Given the description of an element on the screen output the (x, y) to click on. 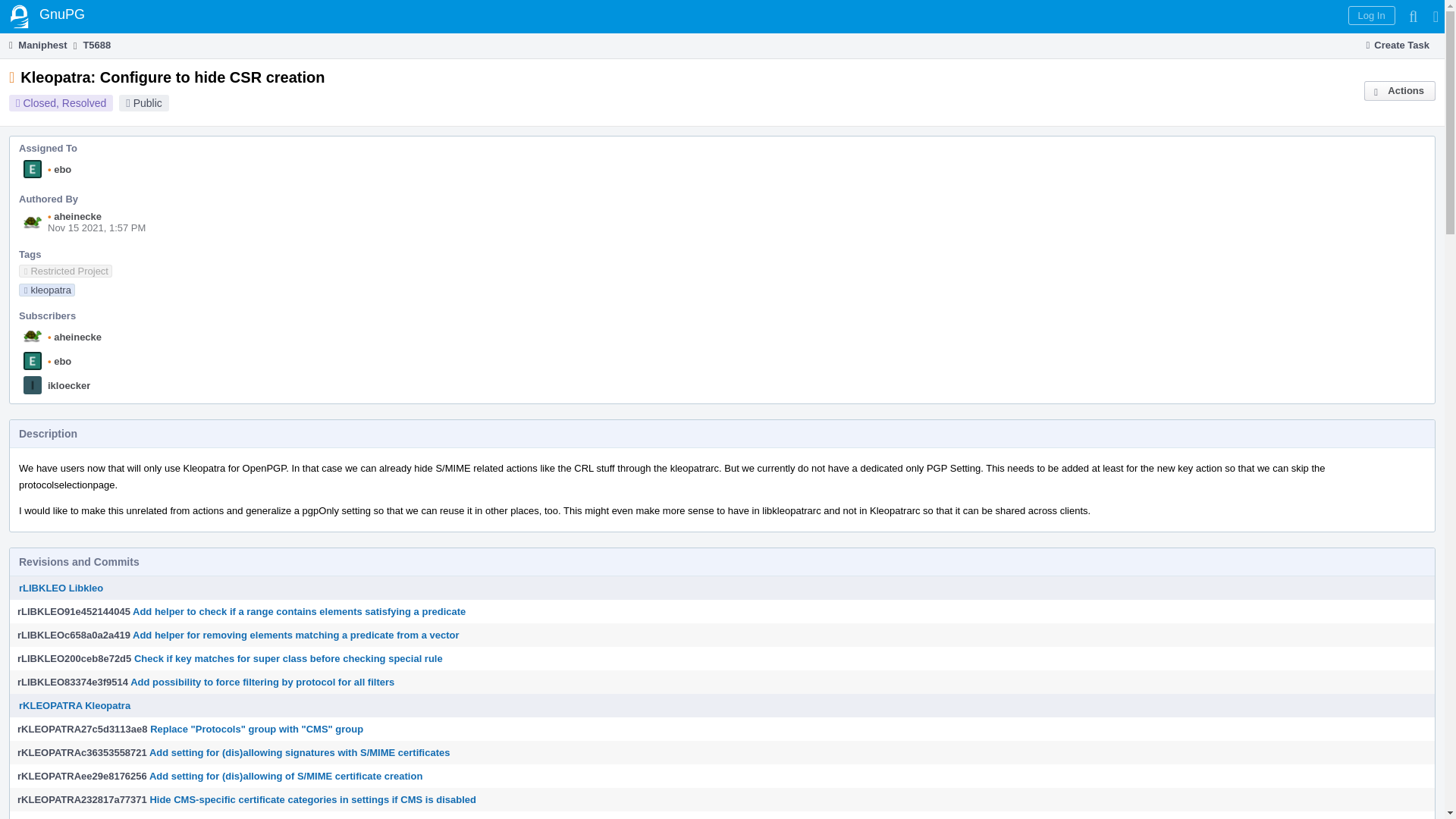
Public (147, 102)
rLIBKLEO Libkleo (60, 587)
Maniphest (35, 44)
Actions (1399, 90)
kleopatra (46, 289)
Create Task (1397, 45)
ikloecker (69, 384)
Log In (1371, 15)
GnuPG (47, 16)
